Given the description of an element on the screen output the (x, y) to click on. 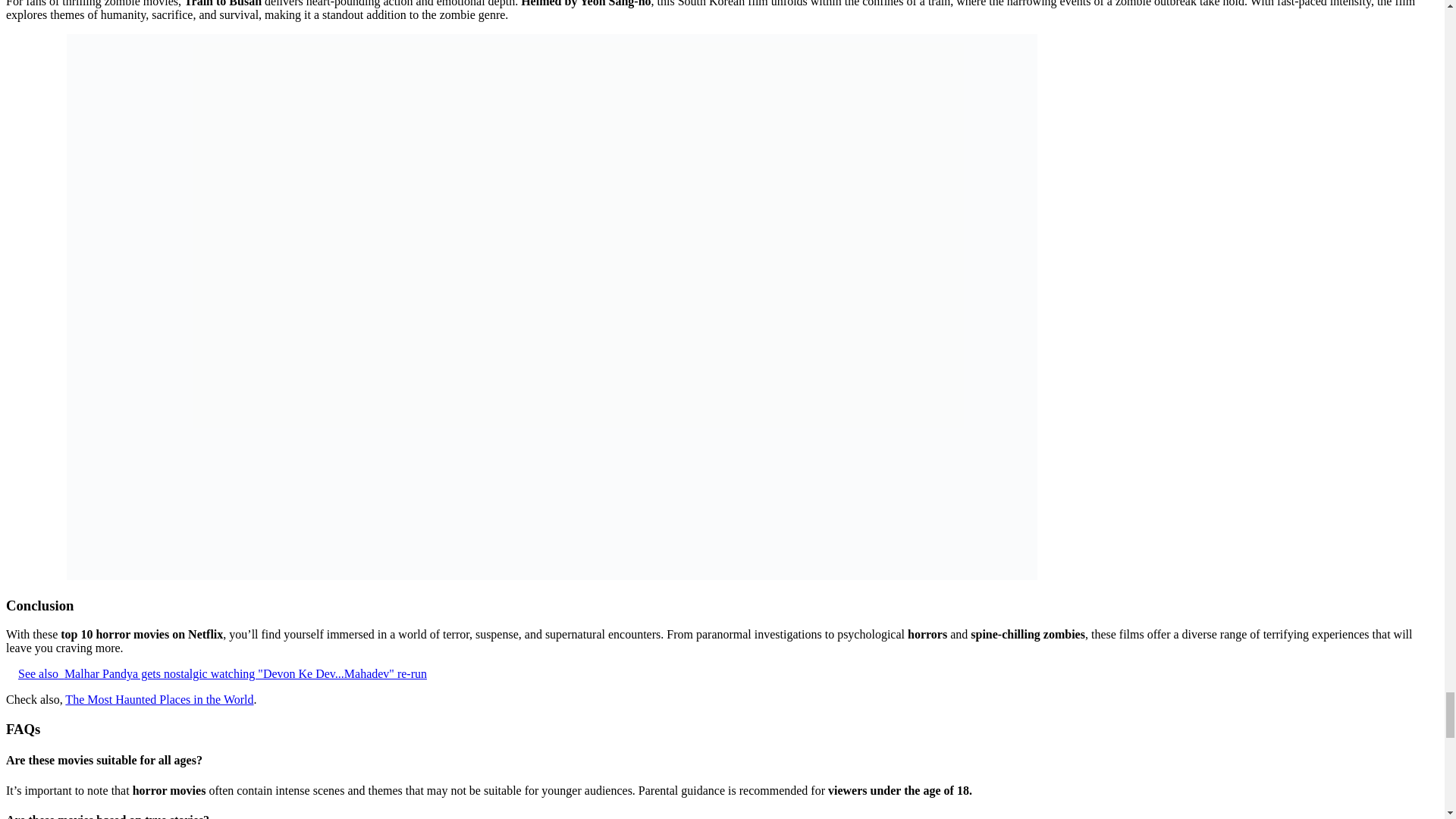
The Most Haunted Places in the World (159, 698)
